Given the description of an element on the screen output the (x, y) to click on. 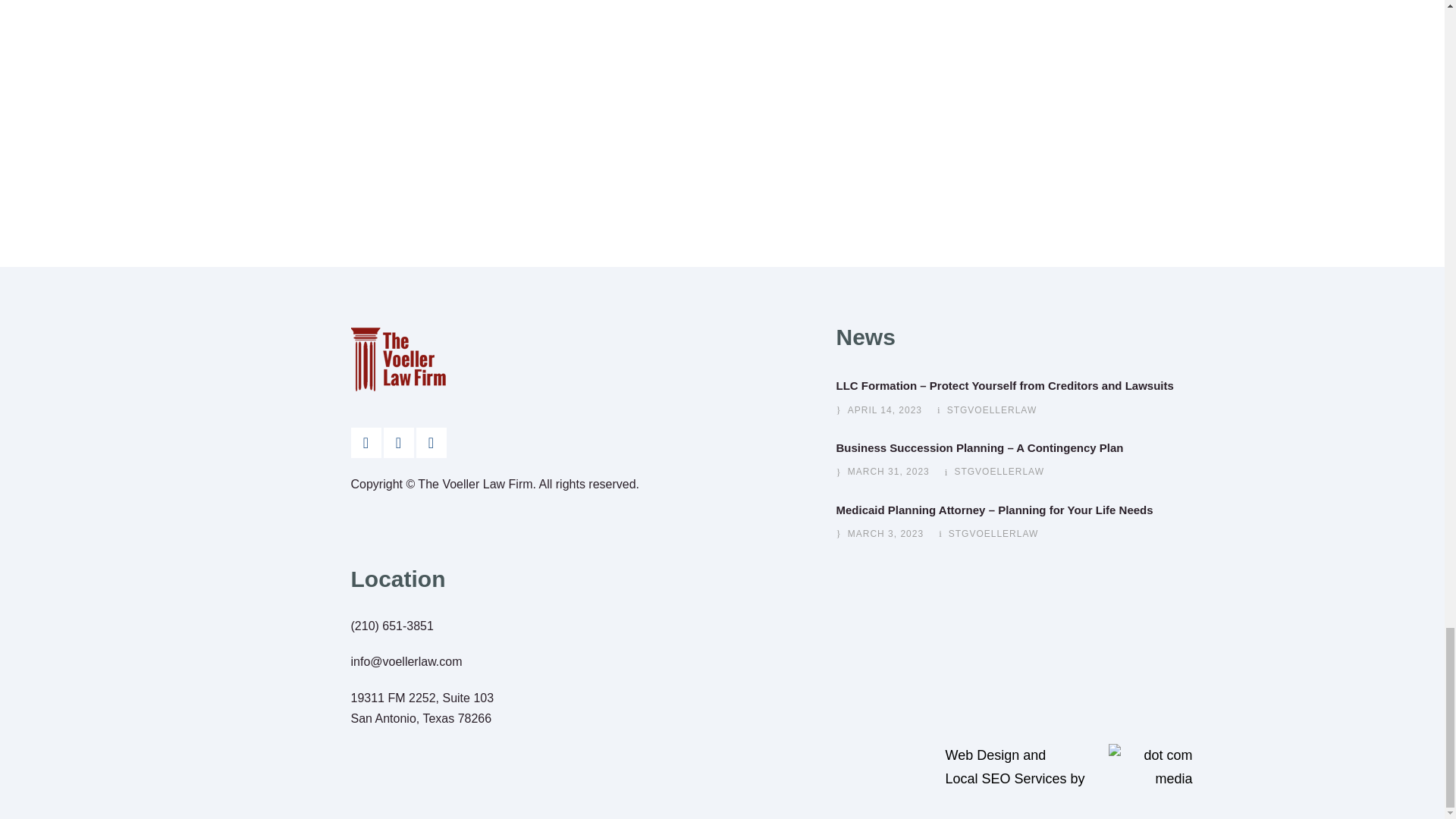
facebook (365, 442)
Posts by stgvoellerlaw (998, 471)
Posts by stgvoellerlaw (991, 409)
linkedin (398, 442)
Posts by stgvoellerlaw (994, 533)
twitter (429, 442)
